Given the description of an element on the screen output the (x, y) to click on. 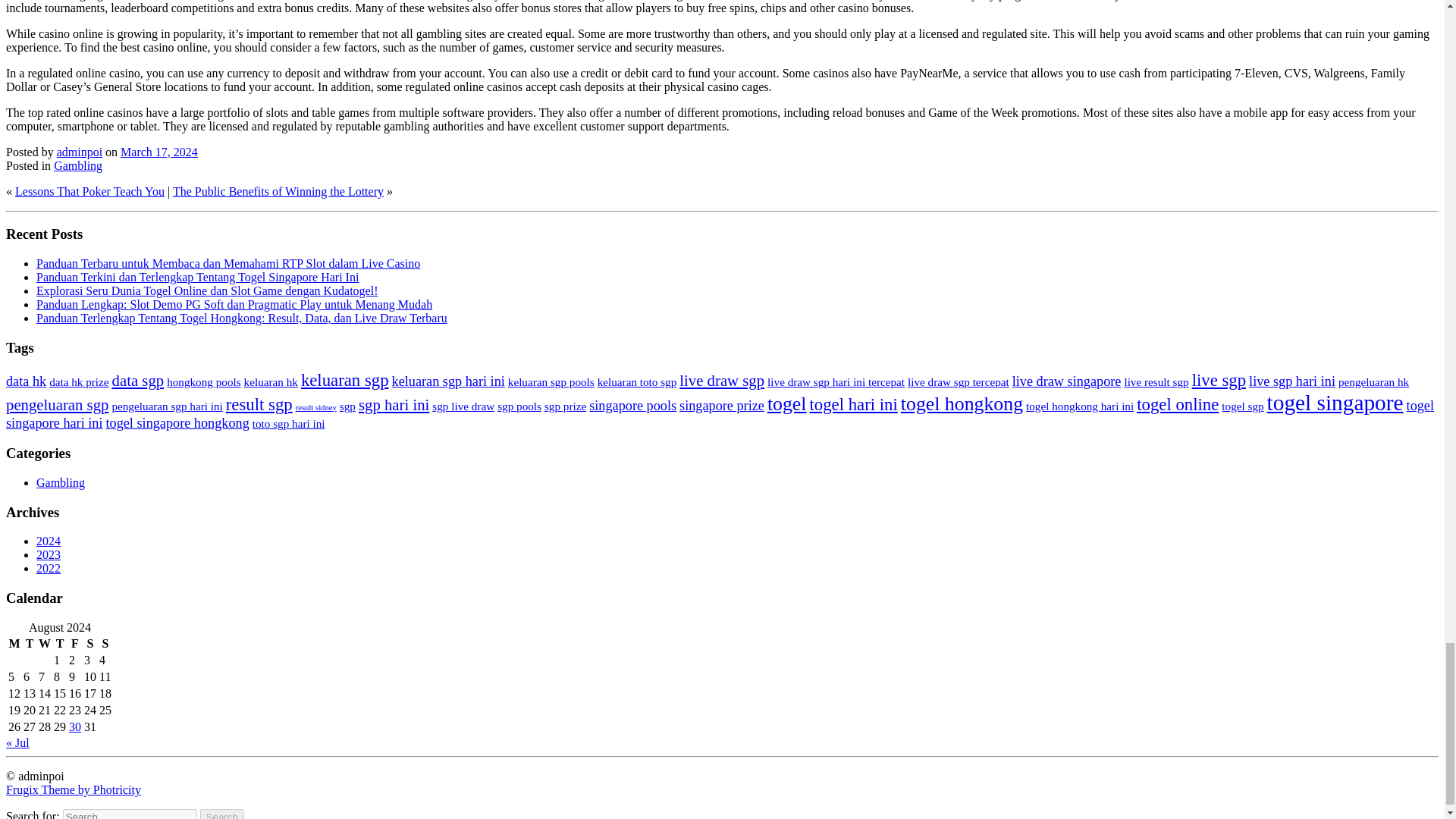
data hk (25, 381)
Friday (74, 643)
The Public Benefits of Winning the Lottery (278, 191)
pengeluaran sgp hari ini (167, 405)
data sgp (138, 380)
sgp pools (519, 405)
live draw sgp tercepat (958, 381)
keluaran toto sgp (636, 381)
Thursday (59, 643)
Lessons That Poker Teach You (89, 191)
